Given the description of an element on the screen output the (x, y) to click on. 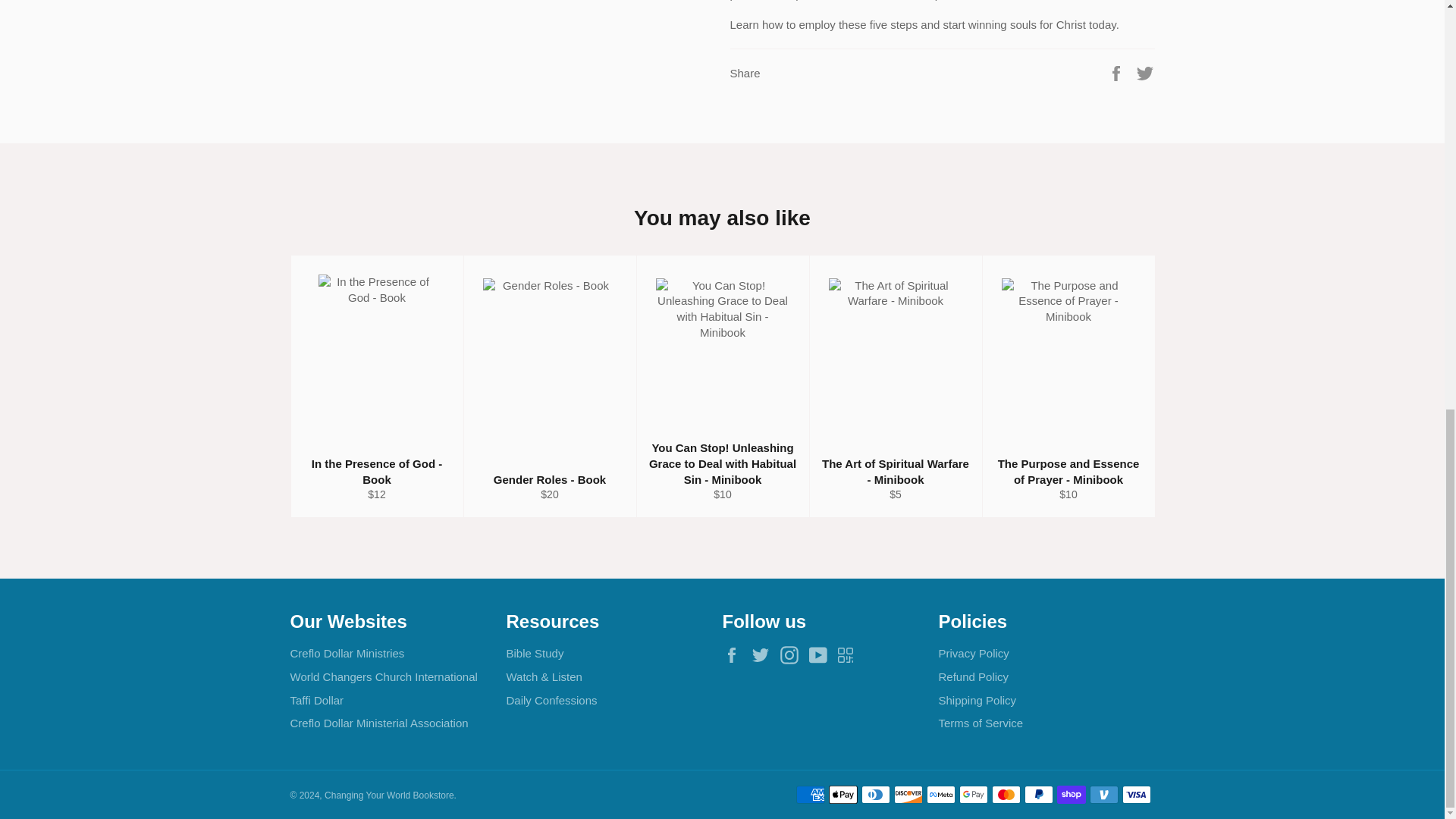
Changing Your World Bookstore on Instagram (793, 655)
Share on Facebook (1117, 72)
Changing Your World Bookstore on YouTube (821, 655)
Changing Your World Bookstore on Facebook (735, 655)
QR Code (849, 654)
Tweet on Twitter (1144, 72)
Changing Your World Bookstore on Twitter (764, 655)
